Given the description of an element on the screen output the (x, y) to click on. 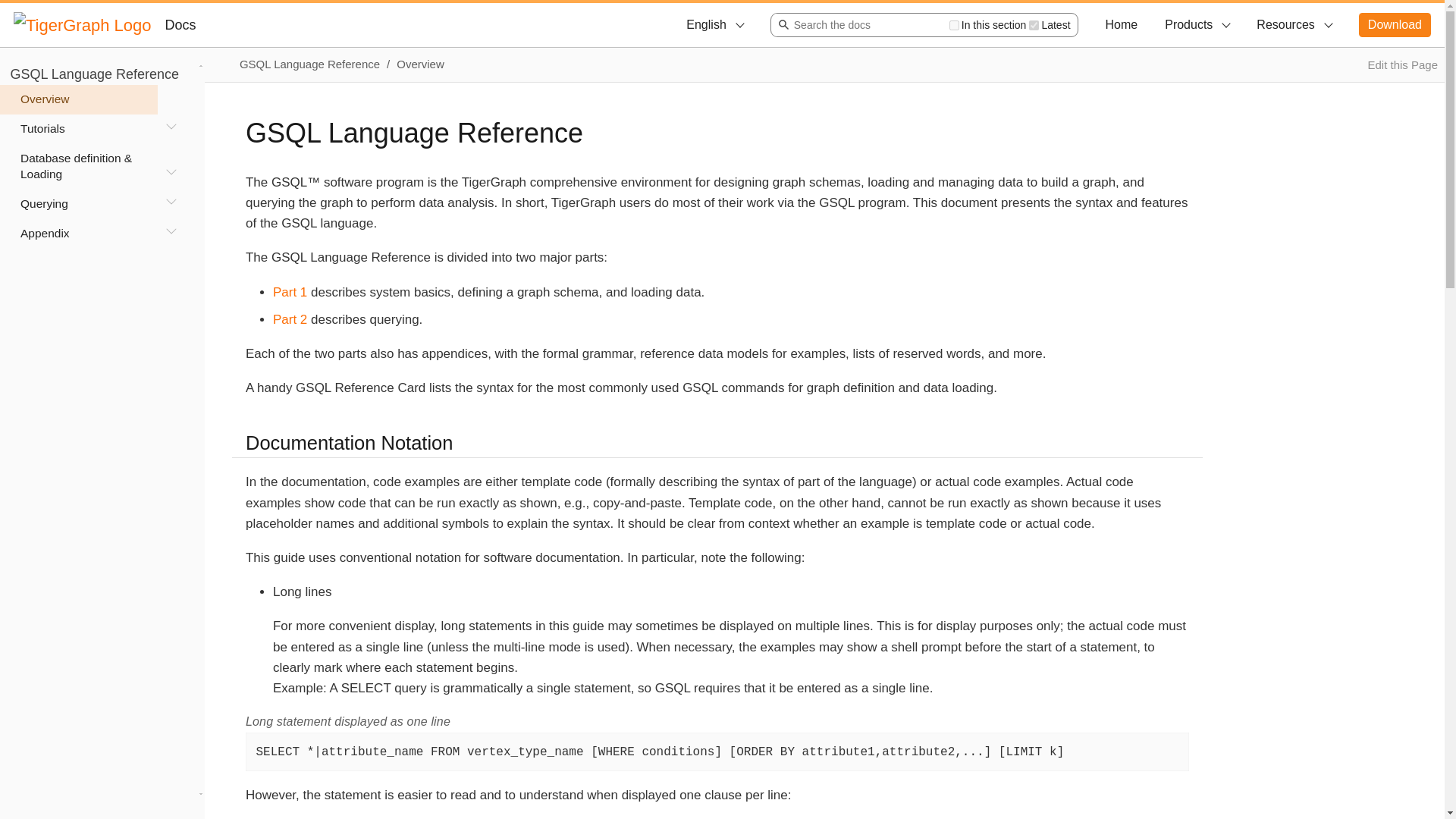
Resources (1293, 24)
Download (1394, 24)
Docs (180, 24)
Products (1197, 24)
GSQL Language Reference (94, 73)
Overview (78, 99)
on (1034, 24)
Home (1121, 24)
English (713, 24)
on (954, 24)
